Given the description of an element on the screen output the (x, y) to click on. 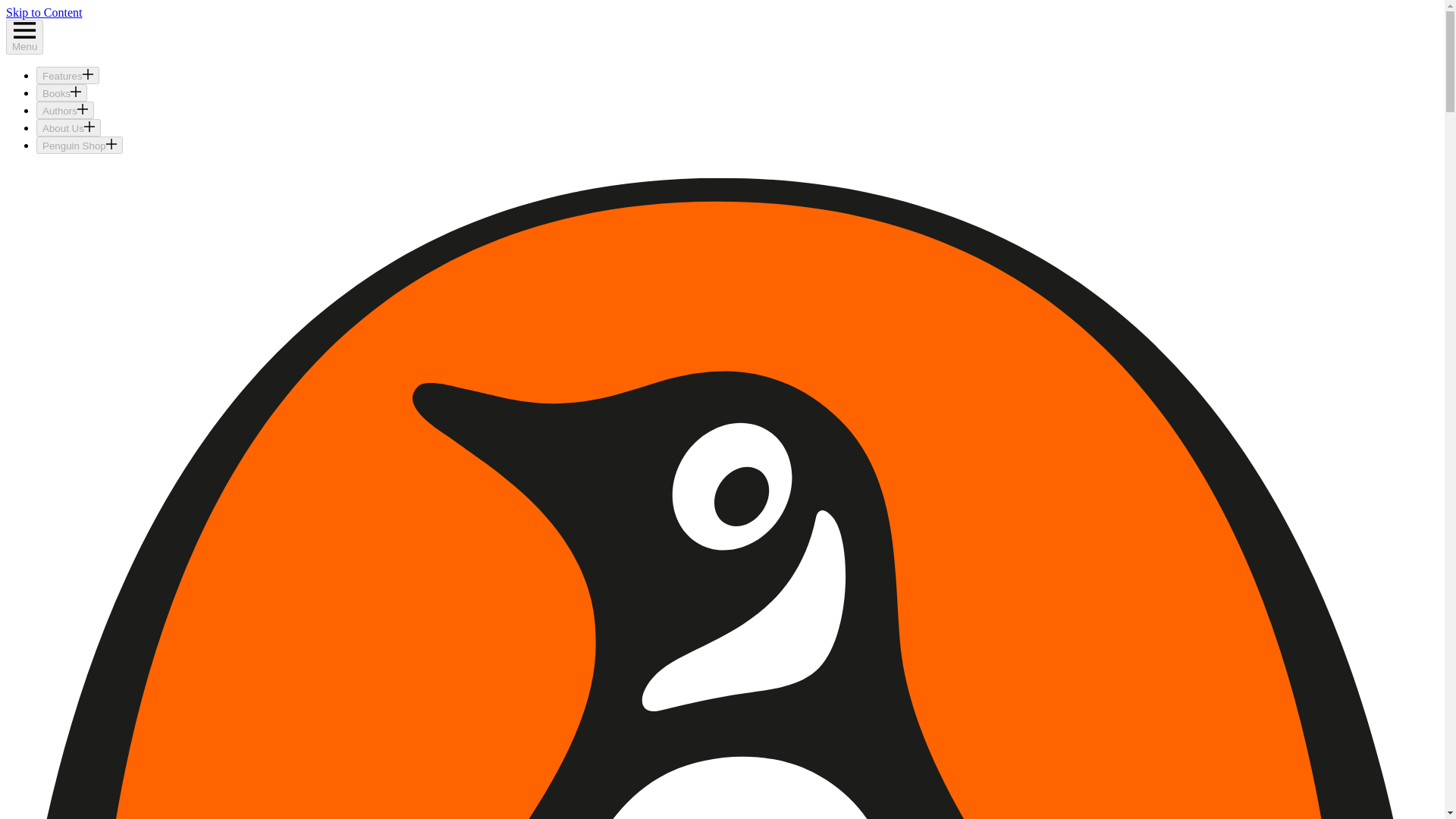
About Us (68, 127)
Penguin Shop (79, 144)
Authors (65, 109)
Features (67, 75)
Skip to Content (43, 11)
Menu (24, 36)
Books (61, 92)
